Given the description of an element on the screen output the (x, y) to click on. 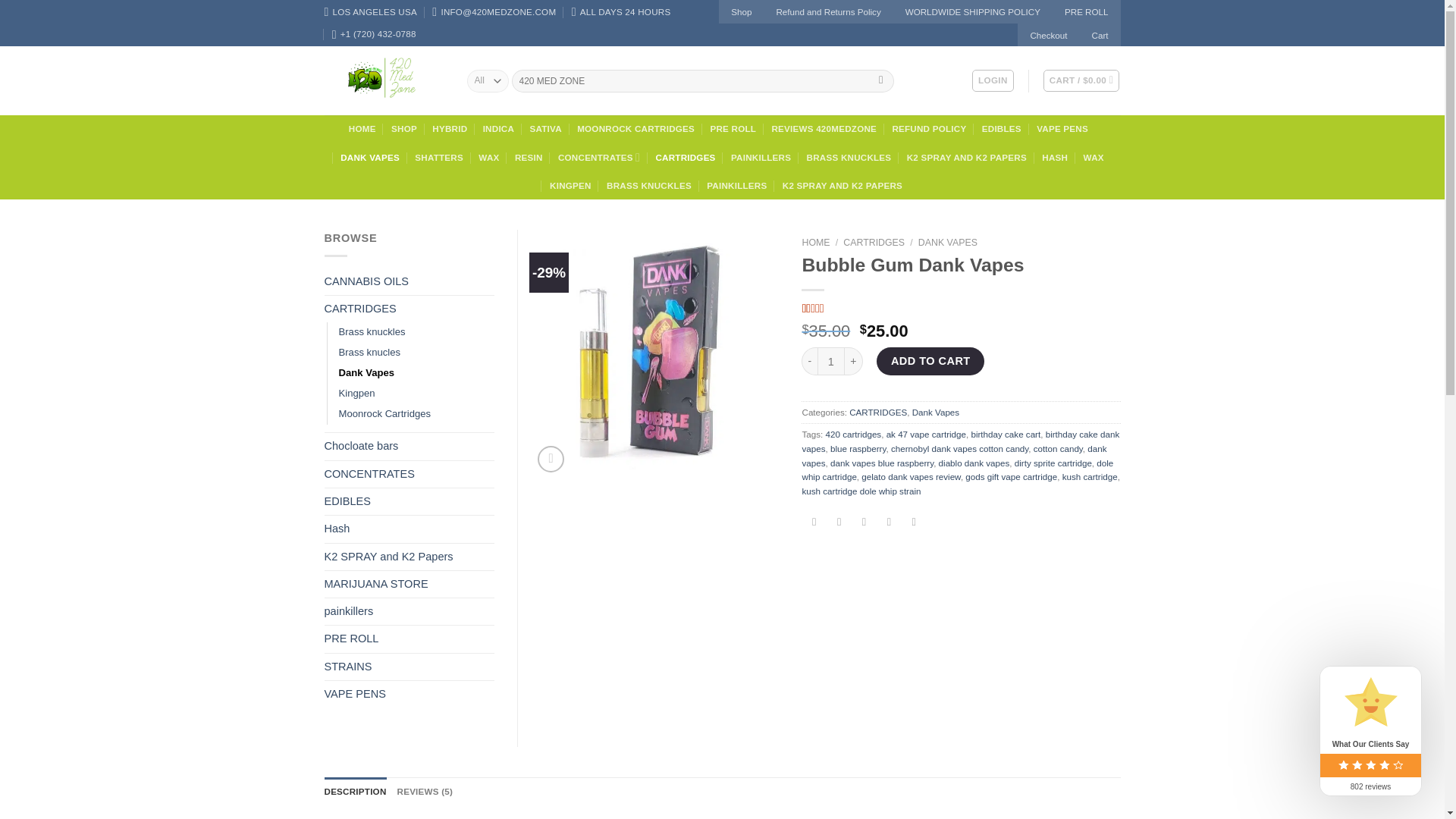
ALL DAYS 24 HOURS (621, 11)
Share on Twitter (839, 522)
Checkout (1047, 34)
PRE ROLL (1086, 11)
1 (830, 361)
Shop (740, 11)
Refund and Returns Policy (827, 11)
Cart (1081, 80)
Cart (1100, 34)
Qty (830, 361)
